Given the description of an element on the screen output the (x, y) to click on. 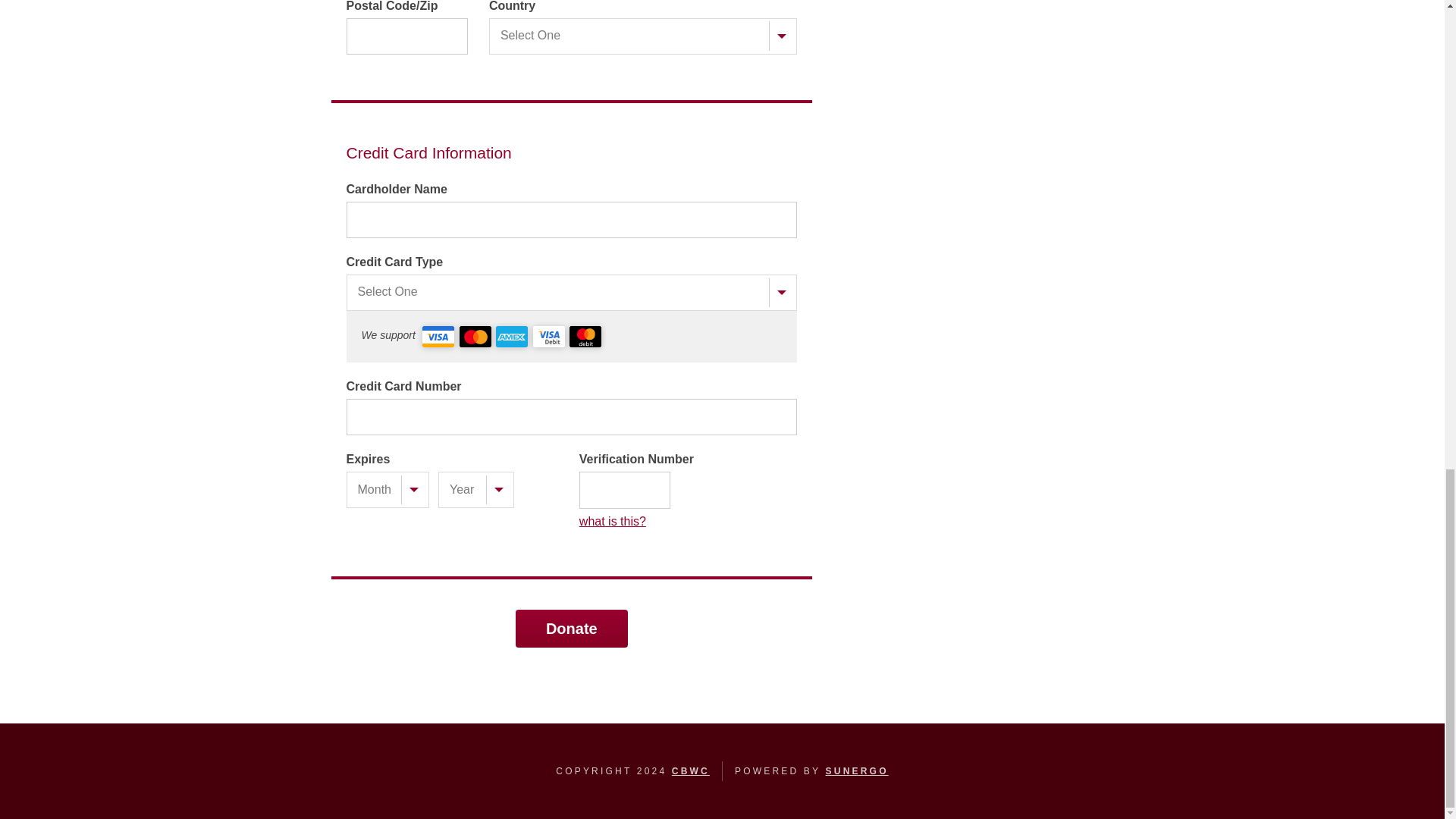
what is this? (687, 521)
Donate (571, 628)
CBWC (690, 770)
SUNERGO (856, 770)
Donate (571, 628)
